Given the description of an element on the screen output the (x, y) to click on. 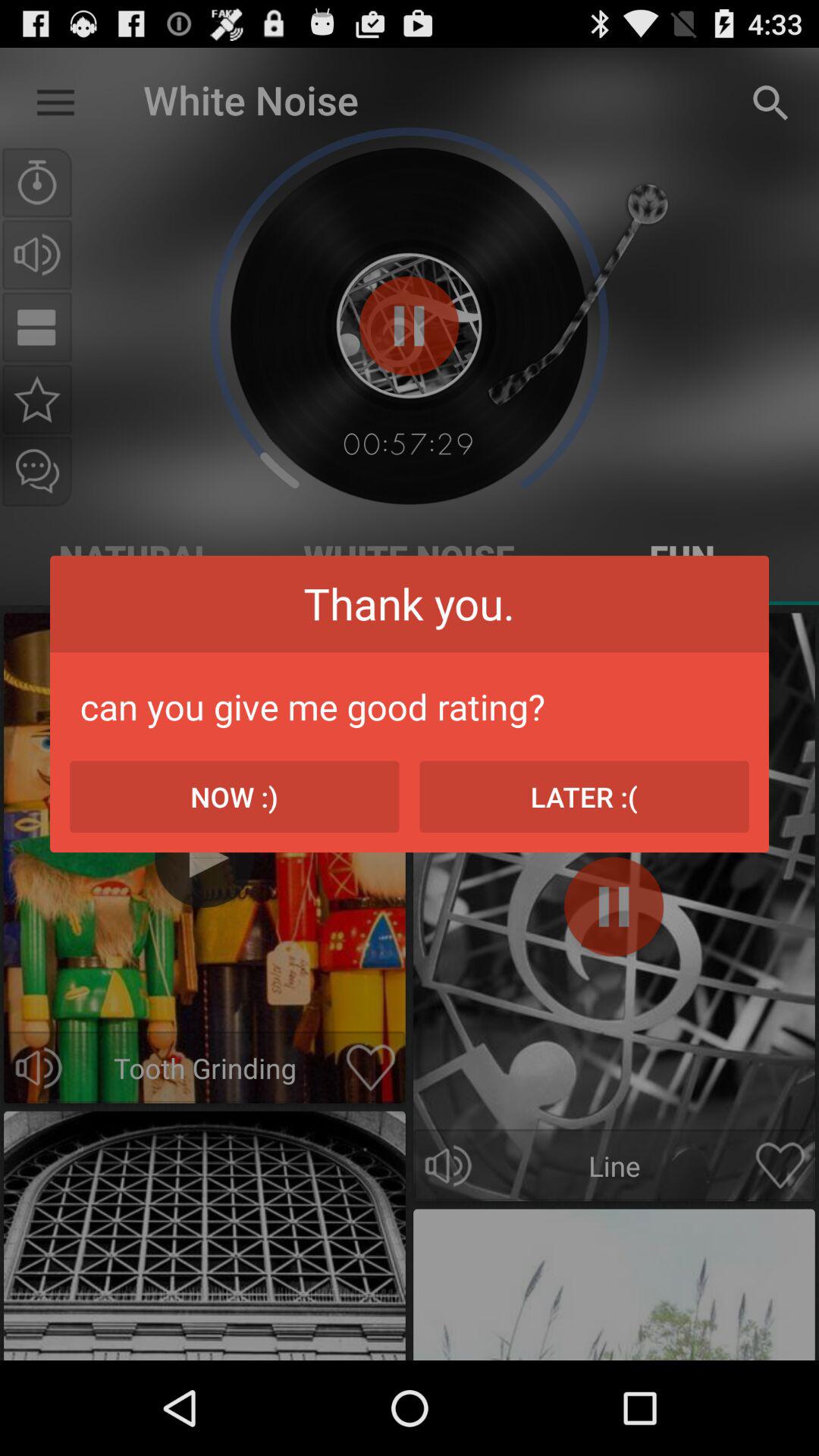
choose icon below the can you give item (584, 796)
